Given the description of an element on the screen output the (x, y) to click on. 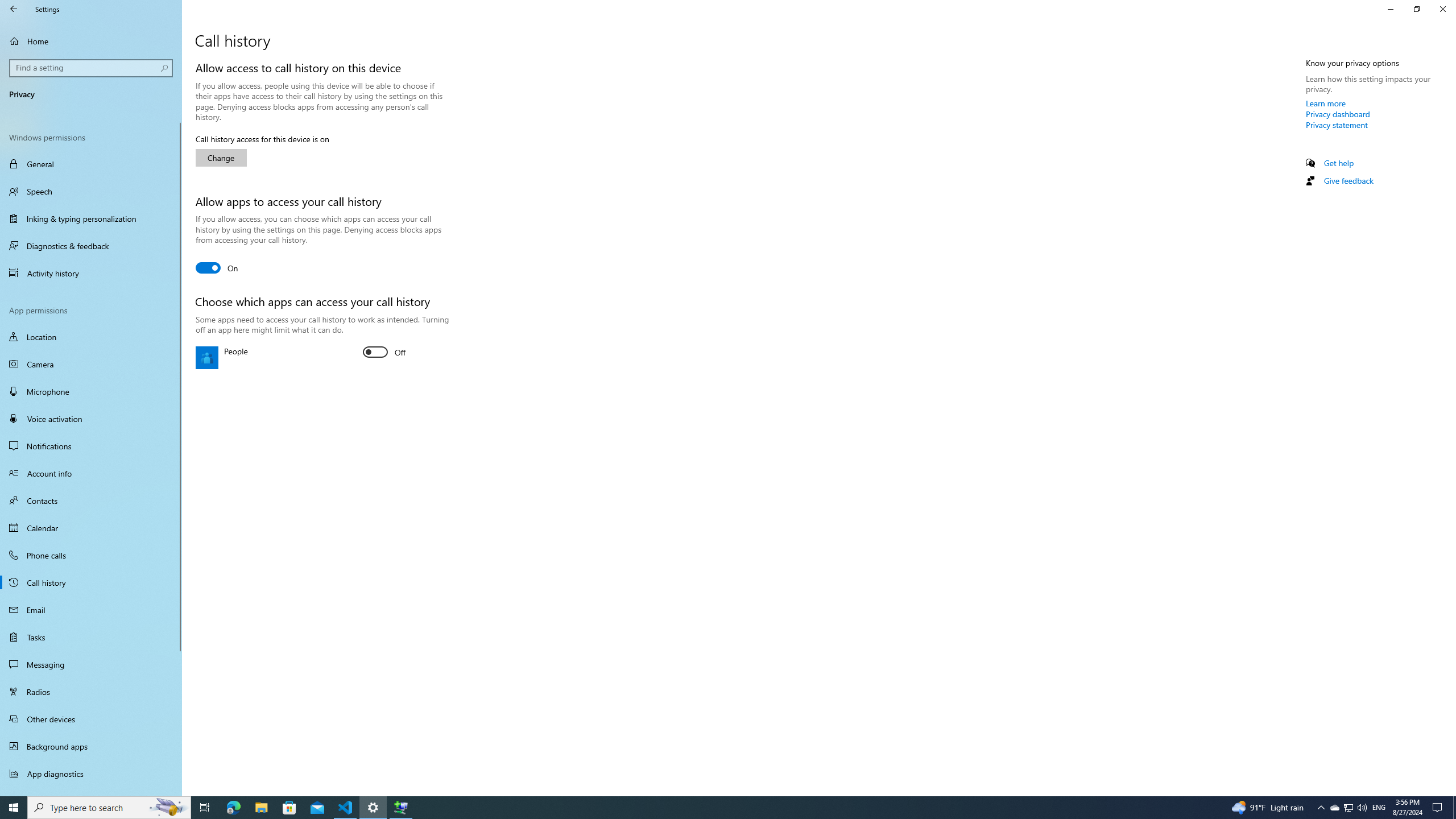
Diagnostics & feedback (91, 245)
People (384, 352)
Change (221, 157)
Inking & typing personalization (91, 217)
App diagnostics (91, 773)
Location (91, 336)
Call history (91, 582)
